Given the description of an element on the screen output the (x, y) to click on. 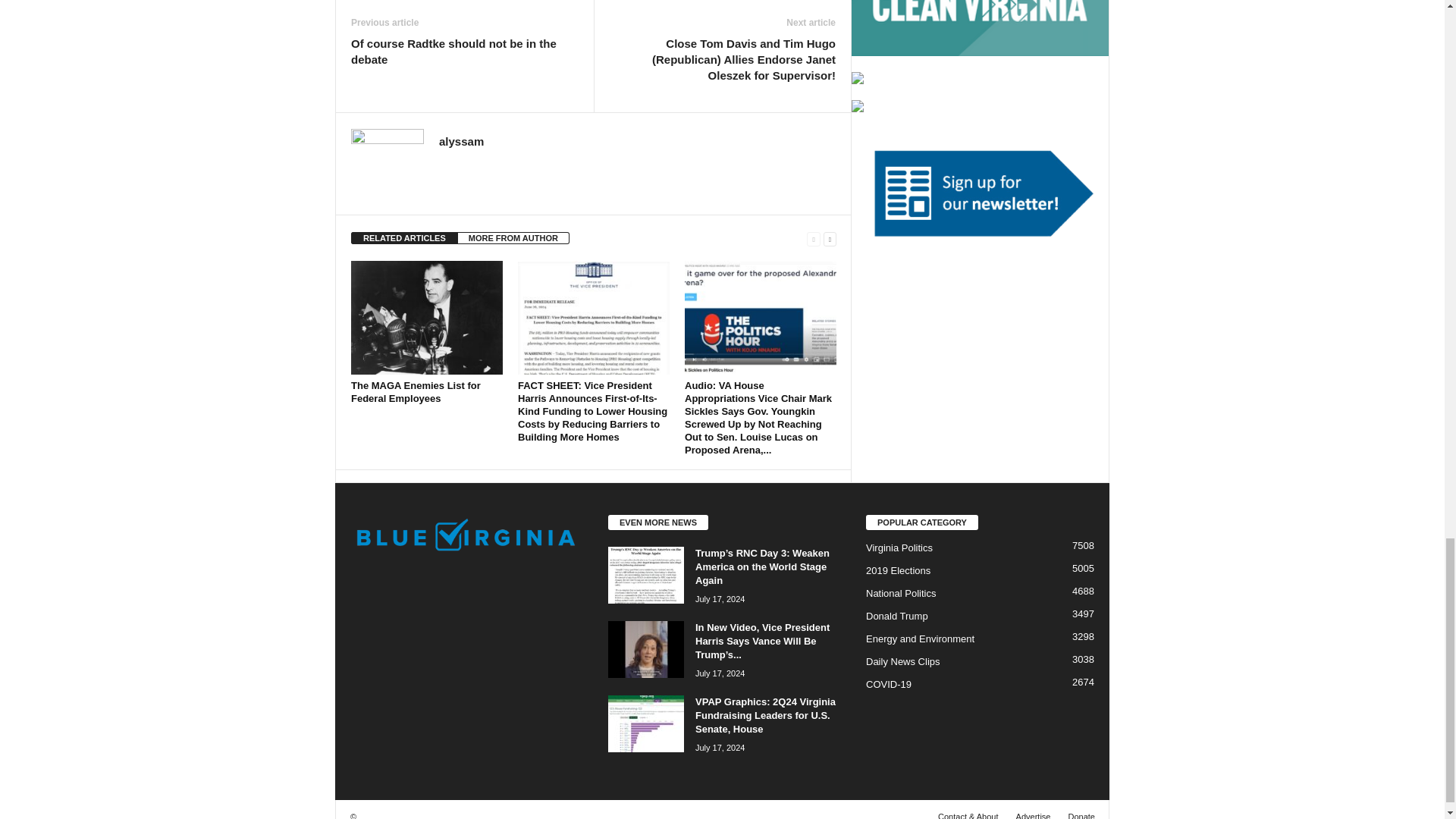
MORE FROM AUTHOR (513, 237)
Of course Radtke should not be in the debate (464, 51)
alyssam (461, 141)
The MAGA Enemies List for Federal Employees (426, 317)
RELATED ARTICLES (404, 237)
